Given the description of an element on the screen output the (x, y) to click on. 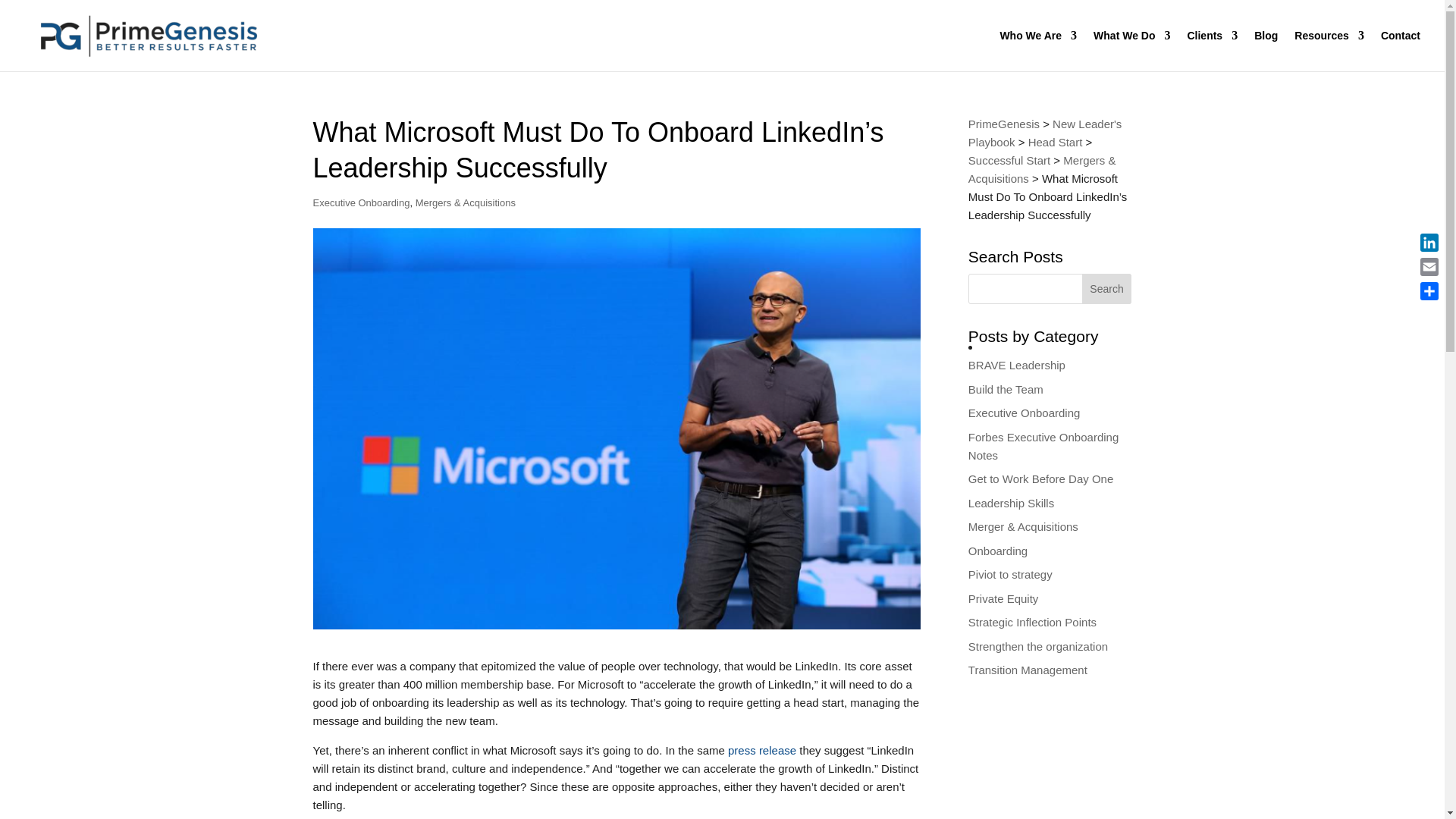
Clients (1211, 50)
Search (1106, 288)
Go to PrimeGenesis. (1003, 123)
Go to the New Leader's Playbook Category archives. (1045, 132)
Go to the Successful Start Category archives. (1008, 160)
Test category description for BRAVE Leadership. (1016, 364)
Email (1428, 266)
Go to the Head Start Category archives. (1055, 141)
LinkedIn (1428, 242)
Executive Onboarding (361, 202)
What We Do (1131, 50)
Who We Are (1037, 50)
Resources (1329, 50)
Contact (1400, 50)
press release (762, 749)
